Given the description of an element on the screen output the (x, y) to click on. 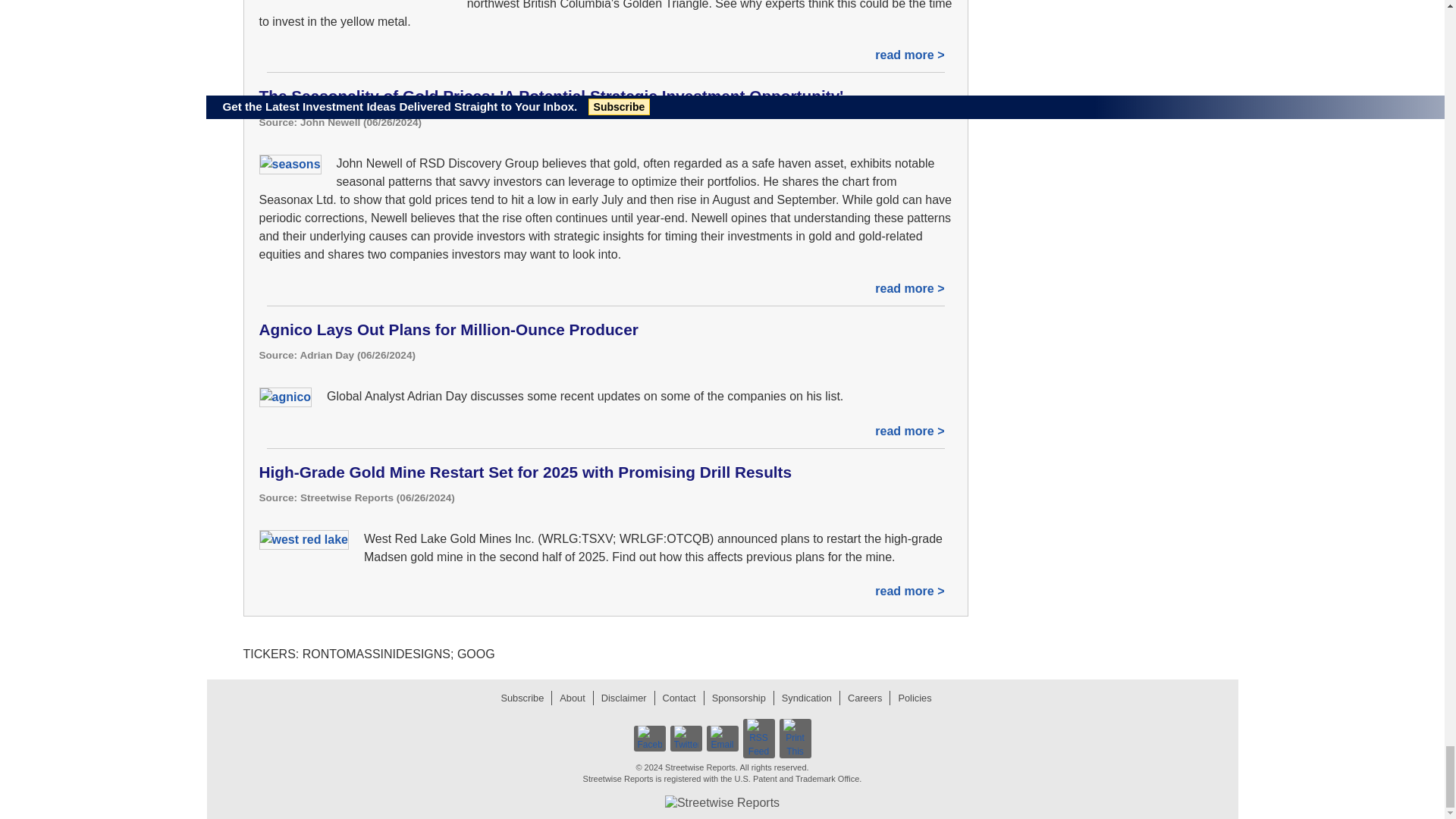
agnico (286, 397)
west red lake (304, 539)
seasons (290, 164)
